Given the description of an element on the screen output the (x, y) to click on. 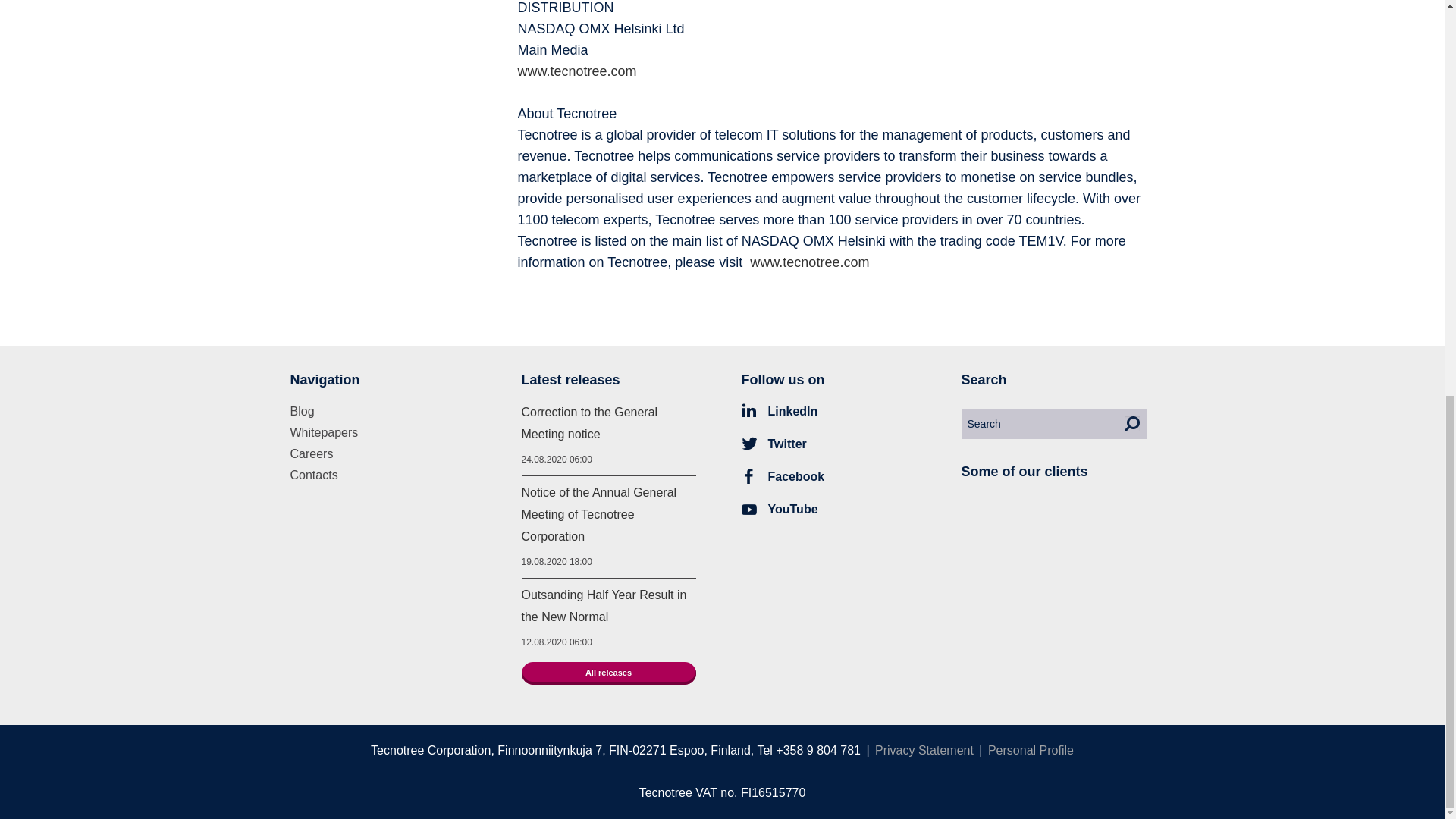
Whitepapers (323, 431)
www.tecnotree.com (809, 262)
Privacy Statement (924, 749)
Contacts (313, 474)
Search (1131, 423)
Correction to the General Meeting notice (589, 422)
Personal Profile (1031, 749)
Search (1131, 423)
LinkedIn (779, 410)
Outsanding Half Year Result in the New Normal (604, 605)
All releases (608, 672)
YouTube (779, 508)
Blog (301, 410)
Careers (311, 453)
